Given the description of an element on the screen output the (x, y) to click on. 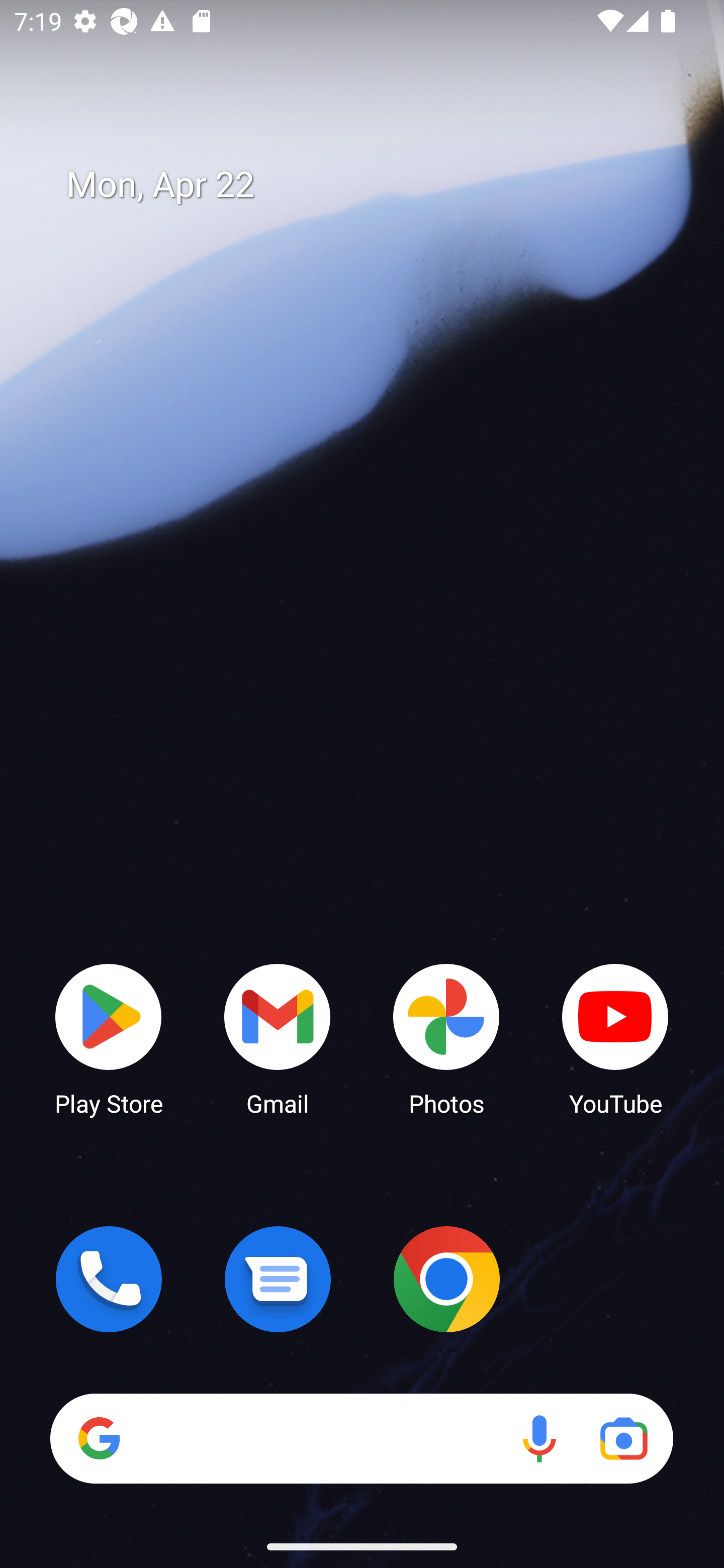
Mon, Apr 22 (375, 184)
Play Store (108, 1038)
Gmail (277, 1038)
Photos (445, 1038)
YouTube (615, 1038)
Phone (108, 1279)
Messages (277, 1279)
Chrome (446, 1279)
Search Voice search Google Lens (361, 1438)
Voice search (539, 1438)
Google Lens (623, 1438)
